Given the description of an element on the screen output the (x, y) to click on. 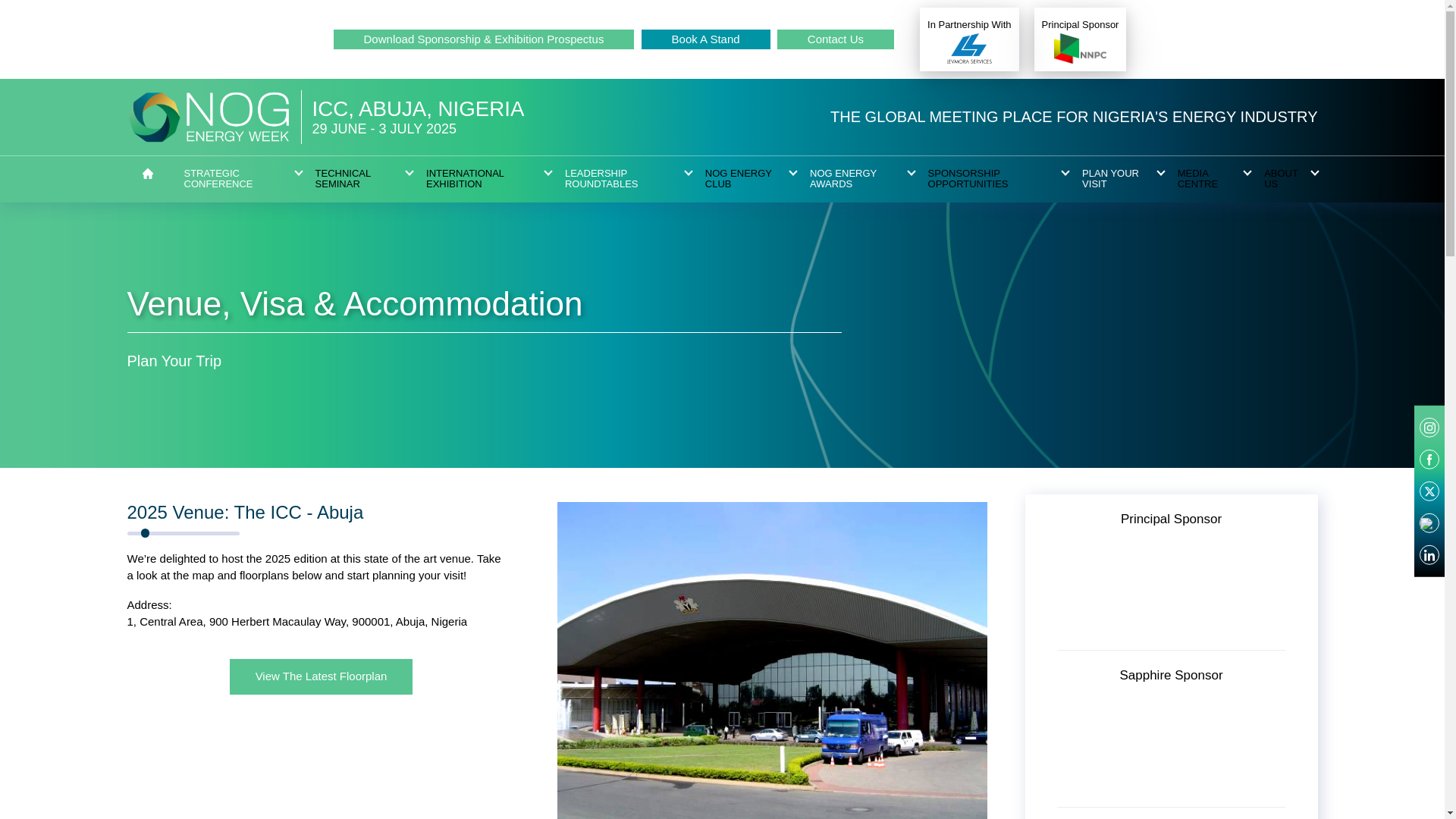
NOG ENERGY AWARDS (854, 179)
PLAN YOUR VISIT (1115, 179)
LEADERSHIP ROUNDTABLES (621, 179)
Contact Us (835, 39)
NOG ENERGY CLUB (743, 179)
INTERNATIONAL EXHIBITION (481, 179)
TECHNICAL SEMINAR (356, 179)
STRATEGIC CONFERENCE (235, 179)
SPONSORSHIP OPPORTUNITIES (991, 179)
Book A Stand (706, 39)
